Given the description of an element on the screen output the (x, y) to click on. 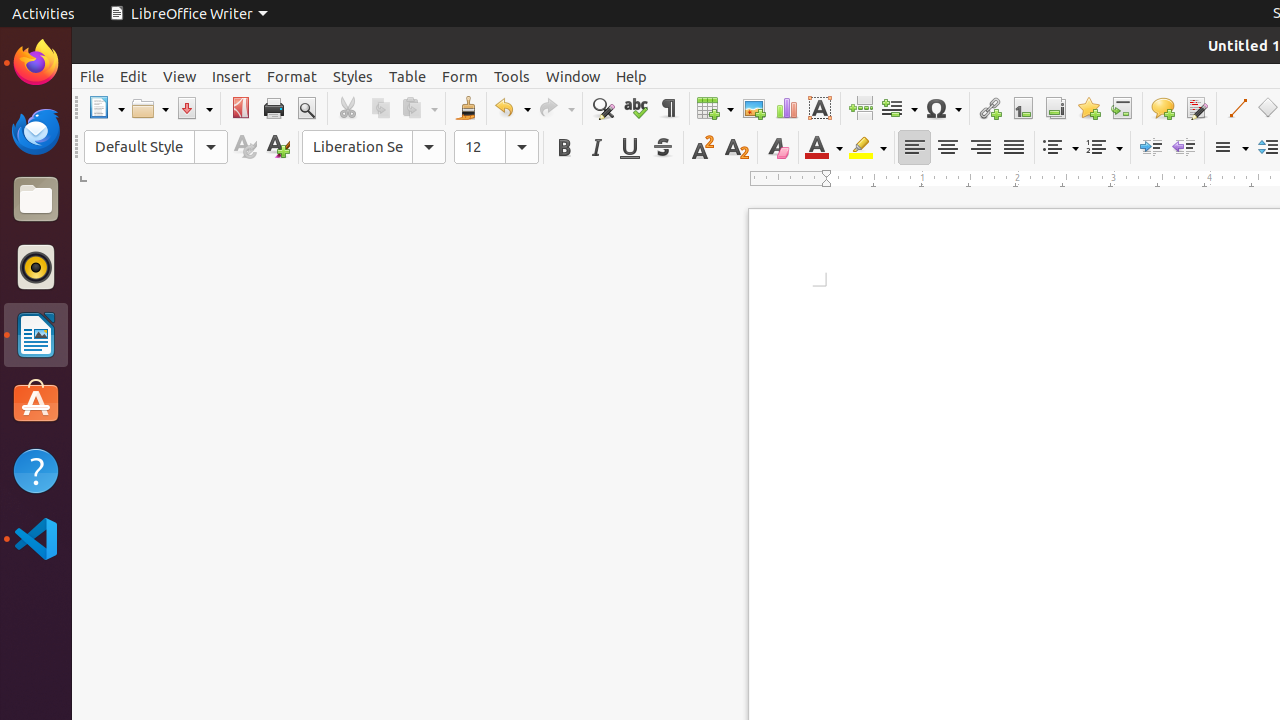
LibreOffice Writer Element type: push-button (36, 334)
Cut Element type: push-button (347, 108)
Window Element type: menu (573, 76)
Text Box Element type: push-button (819, 108)
LibreOffice Writer Element type: menu (188, 13)
